Given the description of an element on the screen output the (x, y) to click on. 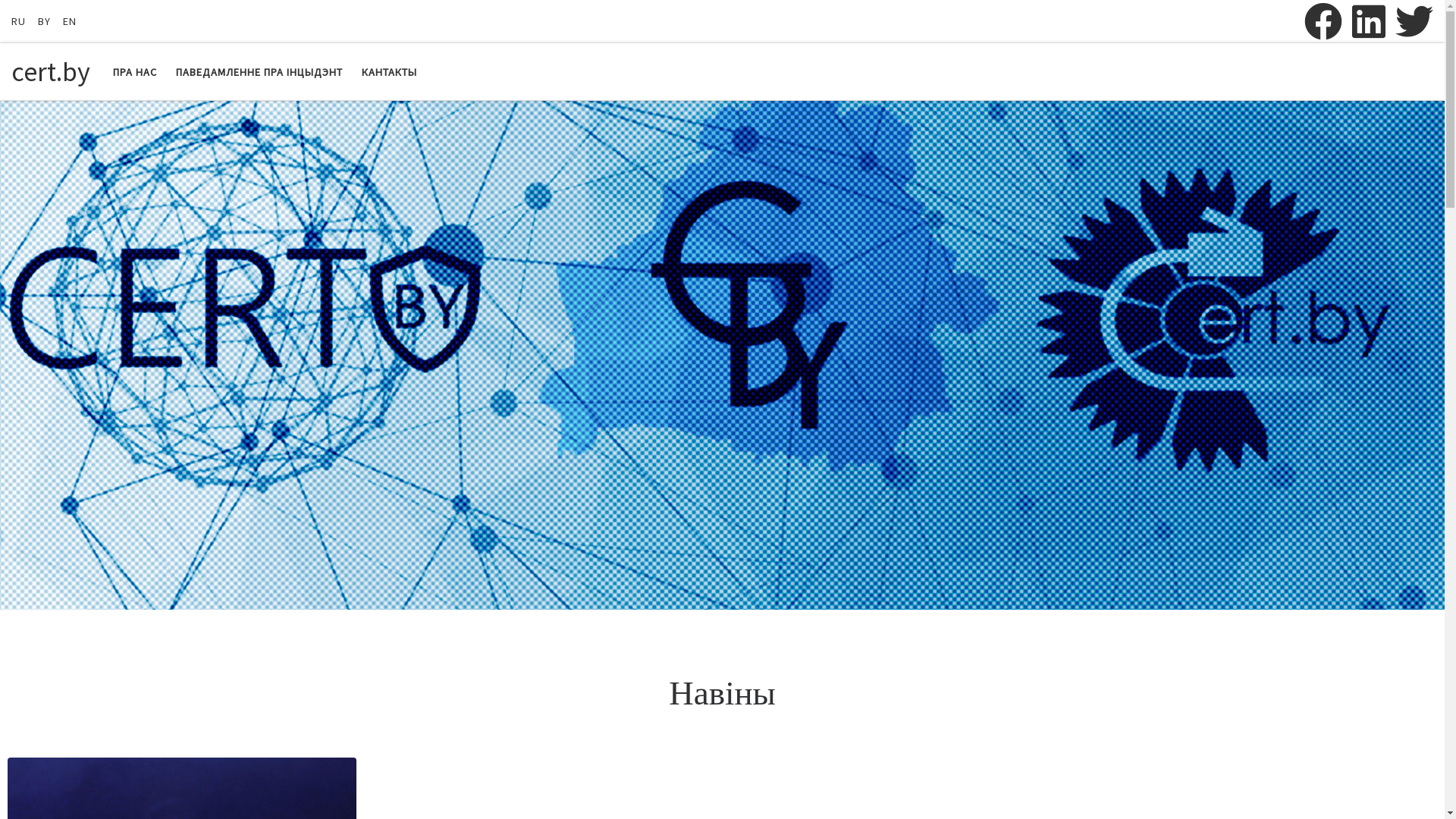
cert.by Element type: text (50, 71)
BY Element type: text (43, 20)
Skip to content Element type: text (57, 21)
EN Element type: text (69, 20)
RU Element type: text (18, 20)
